Given the description of an element on the screen output the (x, y) to click on. 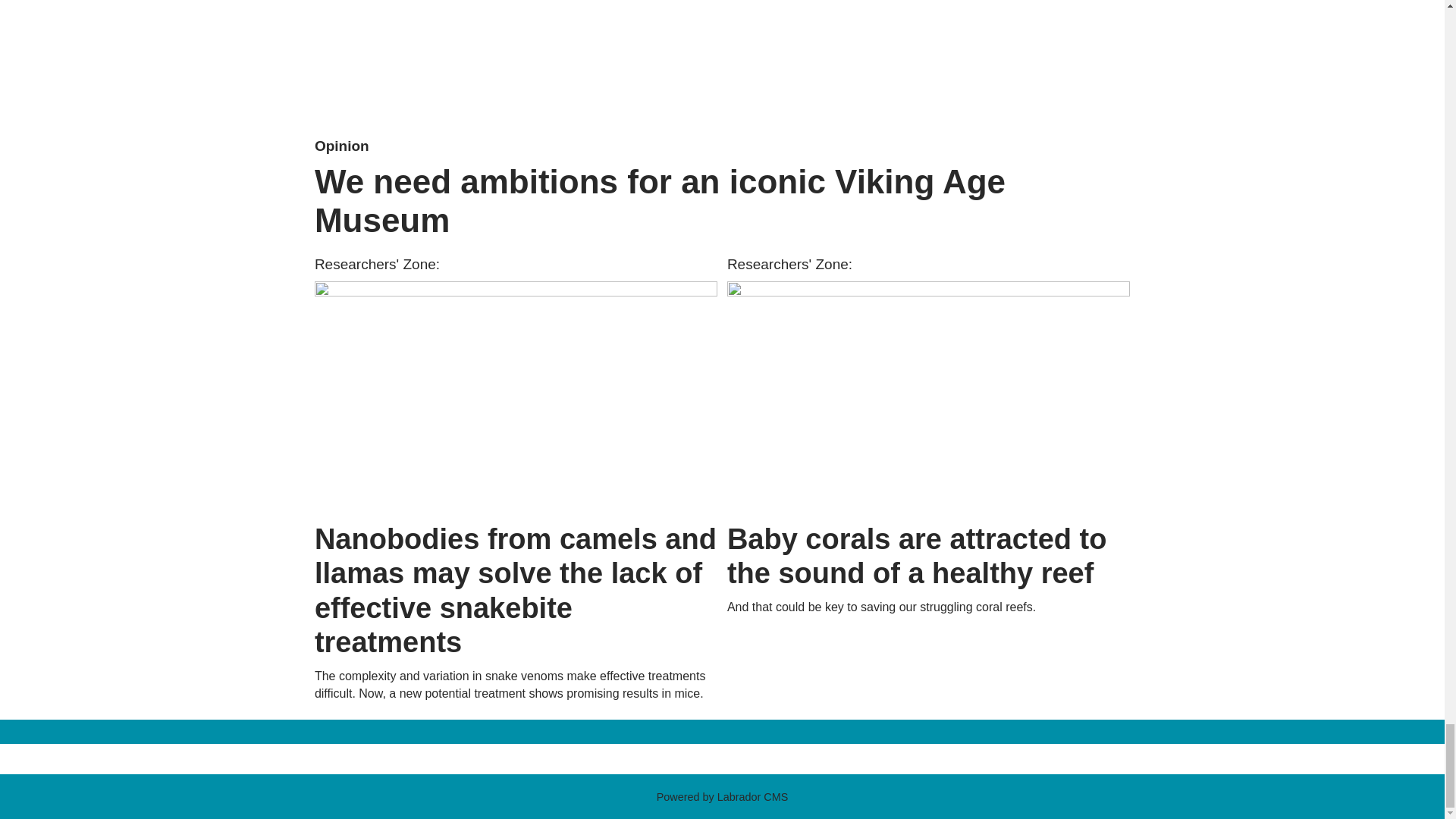
Baby corals are attracted to the sound of a healthy reef (927, 396)
We need ambitions for an iconic Viking Age Museum (721, 61)
